Given the description of an element on the screen output the (x, y) to click on. 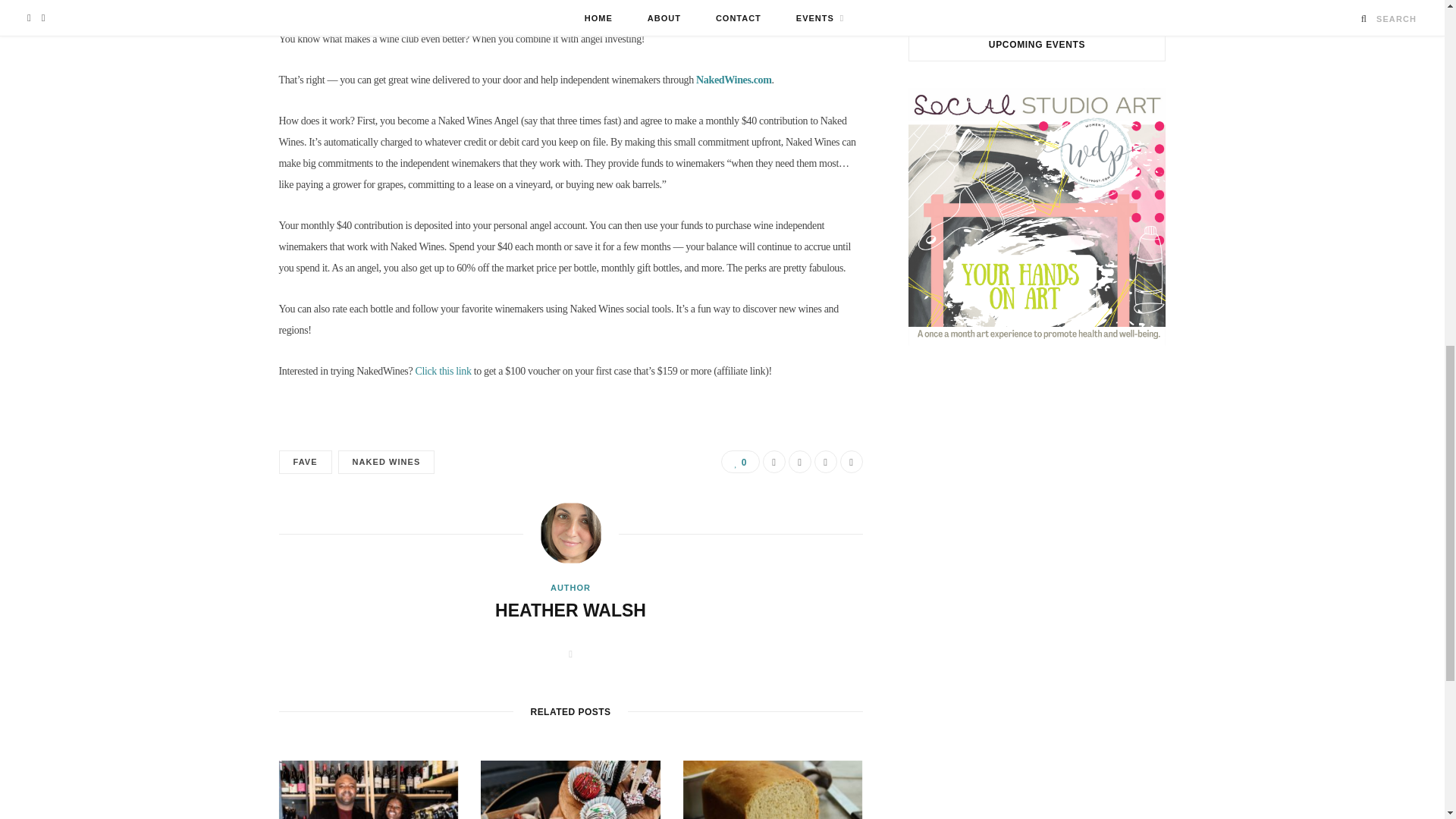
Merry Cocktails from Off the Rox (368, 789)
Share on Twitter (799, 461)
Holiday Fun! Cookies and Cocoa (570, 789)
NAKED WINES (386, 462)
HEATHER WALSH (570, 610)
Posts by Heather Walsh (570, 610)
Pinterest (825, 461)
FAVE (305, 462)
0 (739, 461)
Share on Facebook (774, 461)
NakedWines.com (733, 79)
Click this link (442, 370)
Email (851, 461)
